Given the description of an element on the screen output the (x, y) to click on. 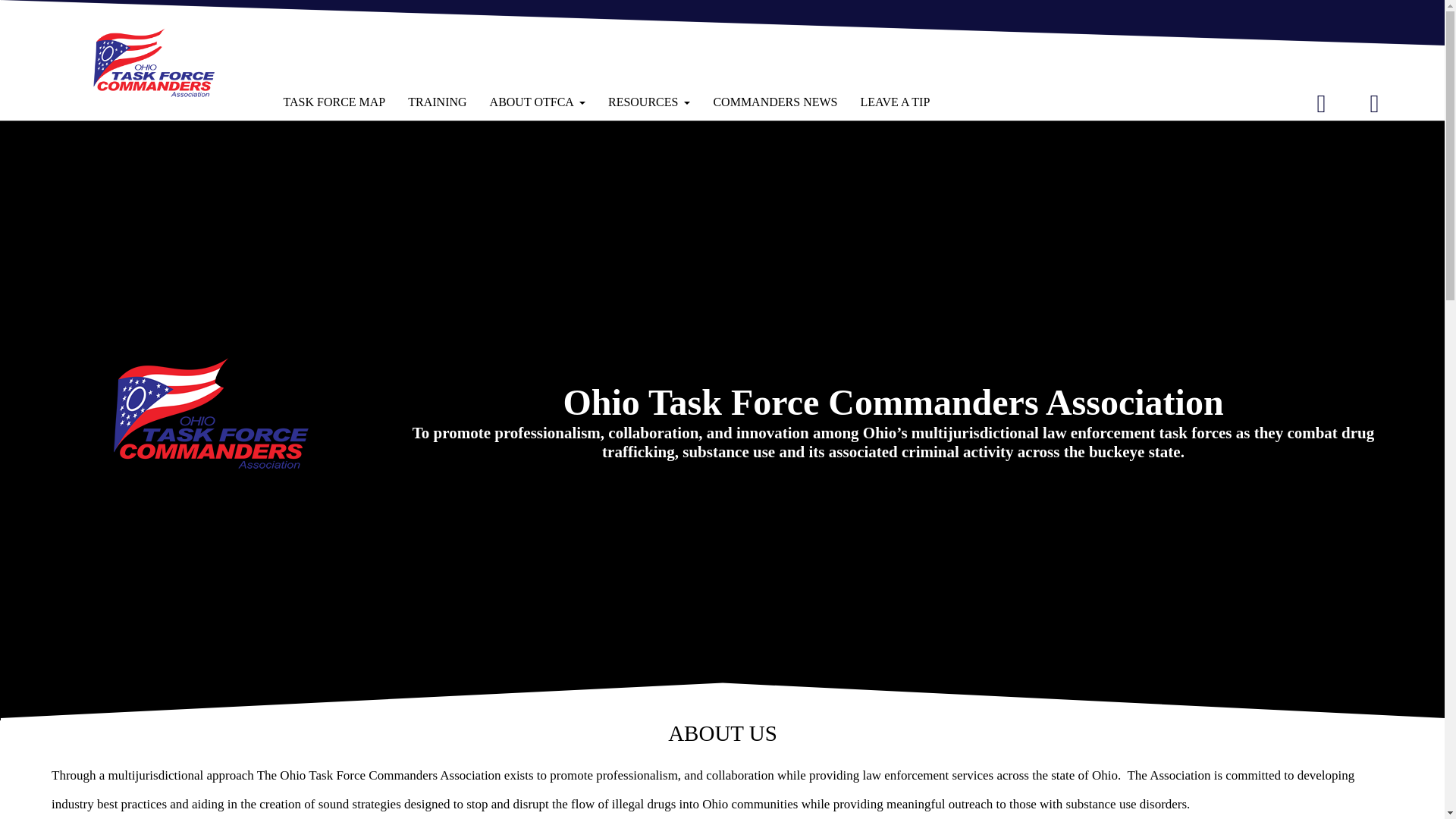
instgram icon (1374, 103)
ABOUT OTFCA (537, 101)
LEAVE A TIP (894, 101)
Ohio Task Force Commanders Association (210, 412)
COMMANDERS NEWS (774, 101)
facebook icon (1320, 103)
RESOURCES (648, 101)
TRAINING (436, 101)
TASK FORCE MAP (333, 101)
Ohio Task Force Commanders Association (153, 62)
